Given the description of an element on the screen output the (x, y) to click on. 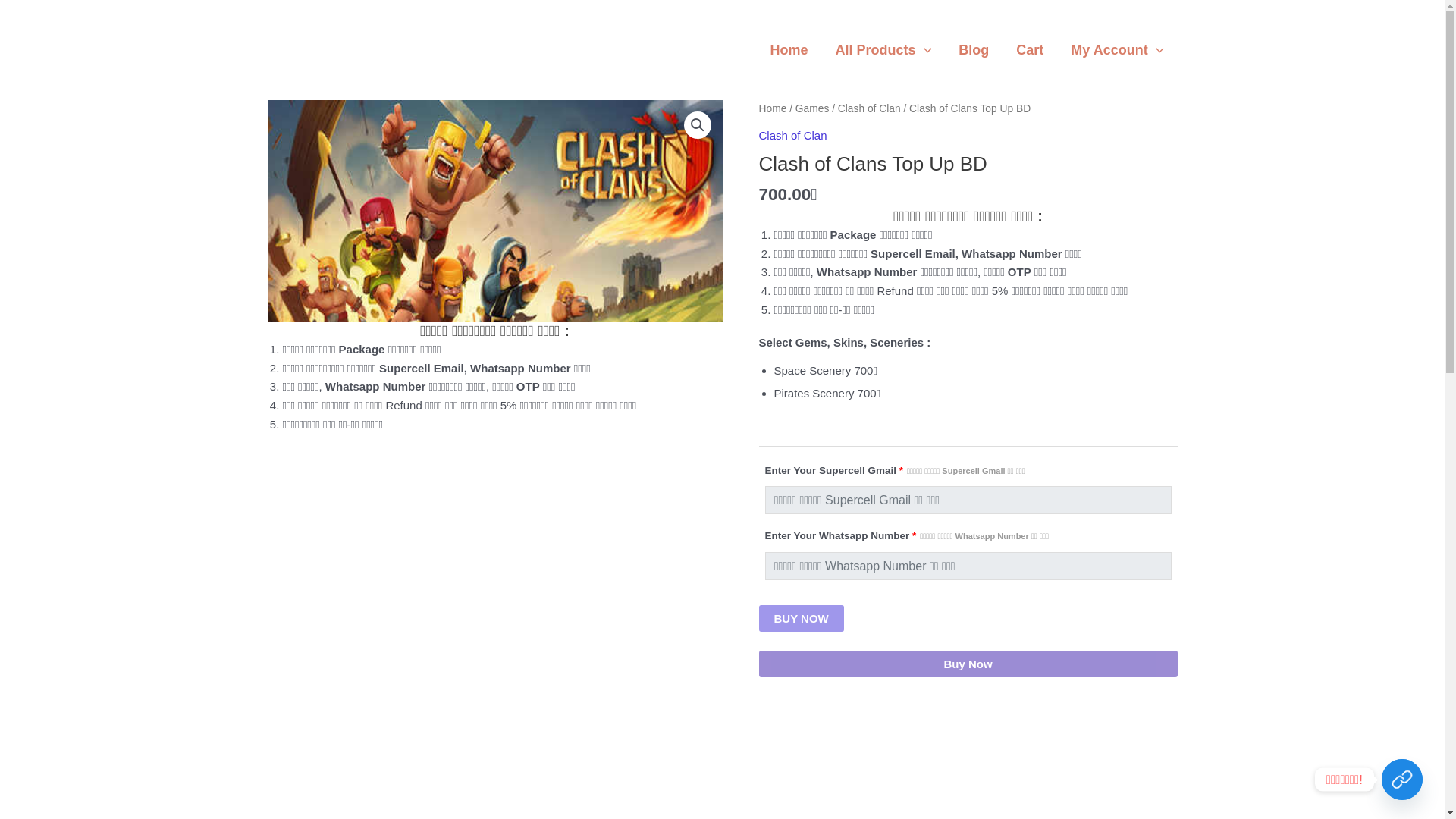
All Products (883, 49)
COC gold pass buy bd (494, 210)
Cart (1030, 49)
My Account (1116, 49)
Blog (973, 49)
Advertisement (967, 755)
Home (789, 49)
